Given the description of an element on the screen output the (x, y) to click on. 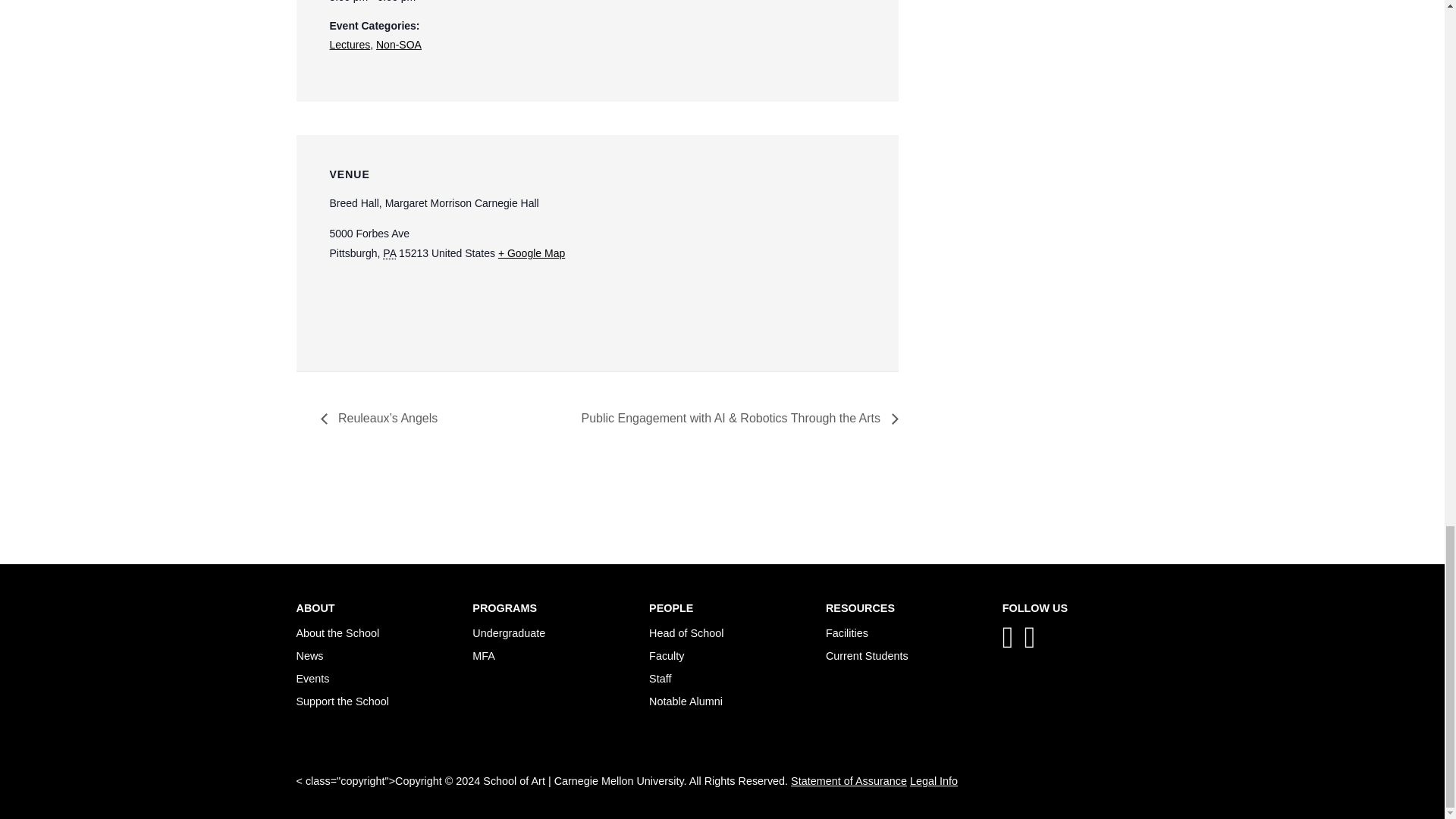
2019-10-14 (453, 2)
Pennsylvania (389, 253)
Click to view a Google Map (530, 253)
